Given the description of an element on the screen output the (x, y) to click on. 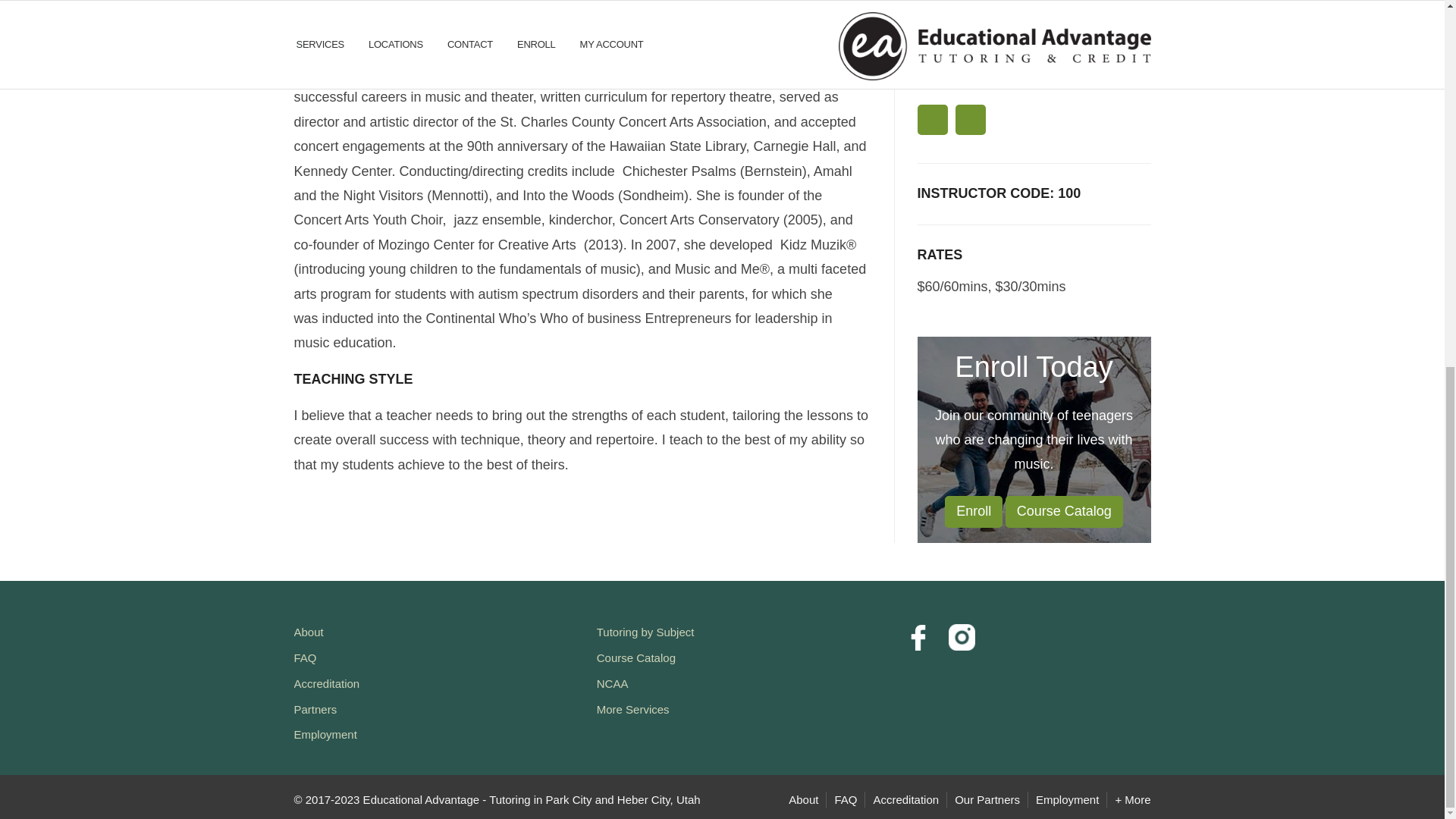
Partners (315, 708)
Accreditation (905, 798)
About (803, 798)
About (308, 631)
NCAA (612, 683)
FAQ (305, 657)
Employment (1067, 798)
FAQ (845, 798)
More Services (632, 708)
Our Partners (987, 798)
